Given the description of an element on the screen output the (x, y) to click on. 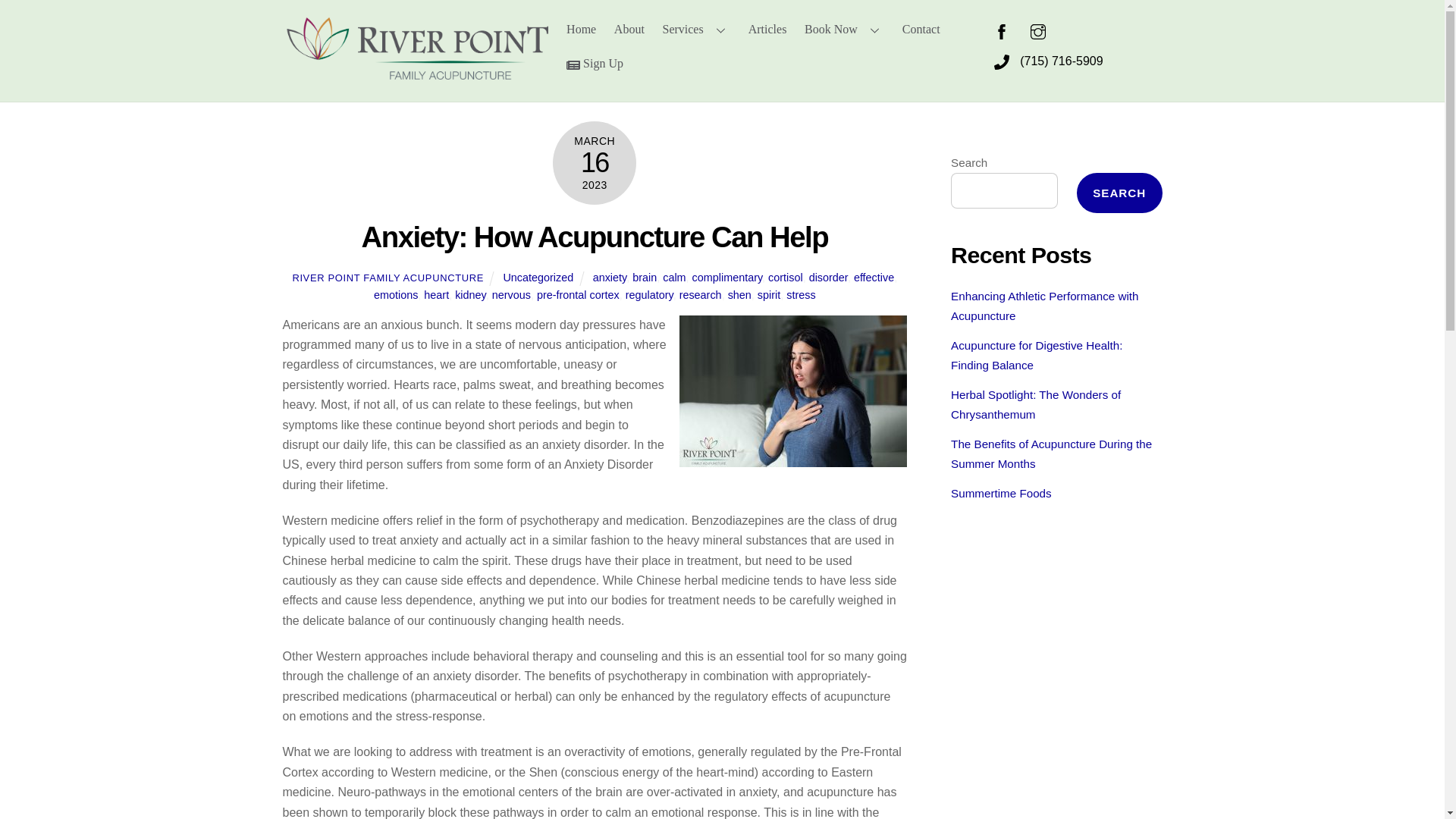
spirit (768, 295)
brain (643, 277)
River Point Family Acupuncture (414, 72)
complimentary (727, 277)
About (628, 29)
research (700, 295)
River-Point-Acu-logo-wide (414, 47)
stress (800, 295)
nervous (511, 295)
Sign Up (594, 63)
calm (673, 277)
emotions (395, 295)
Book Now (843, 29)
effective (873, 277)
Anxiety: How Acupuncture Can Help (594, 236)
